Given the description of an element on the screen output the (x, y) to click on. 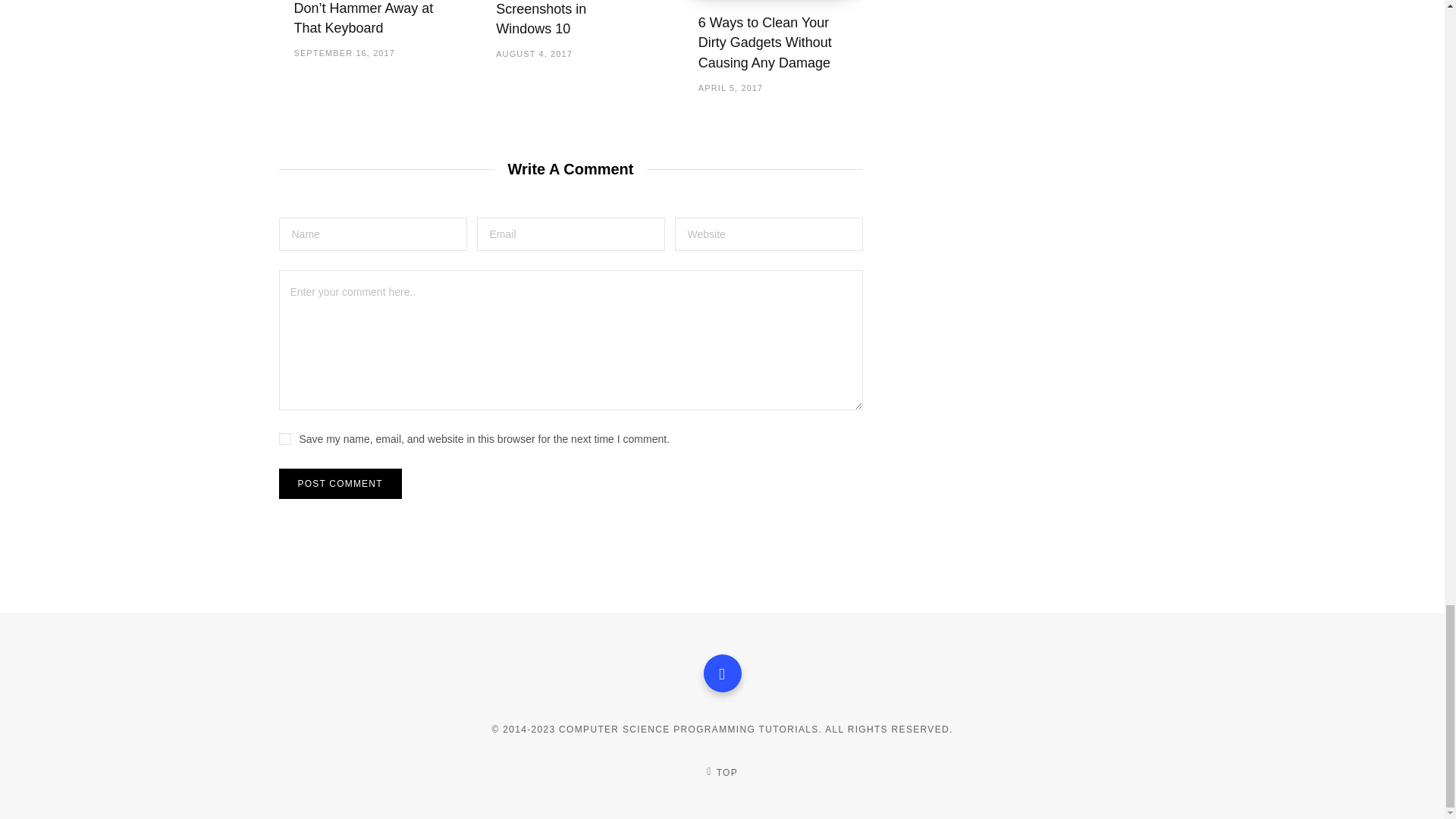
yes (285, 439)
6 Tips For Taking Screenshots in Windows 10 (547, 18)
TOP (721, 772)
Post Comment (340, 483)
Post Comment (340, 483)
